Given the description of an element on the screen output the (x, y) to click on. 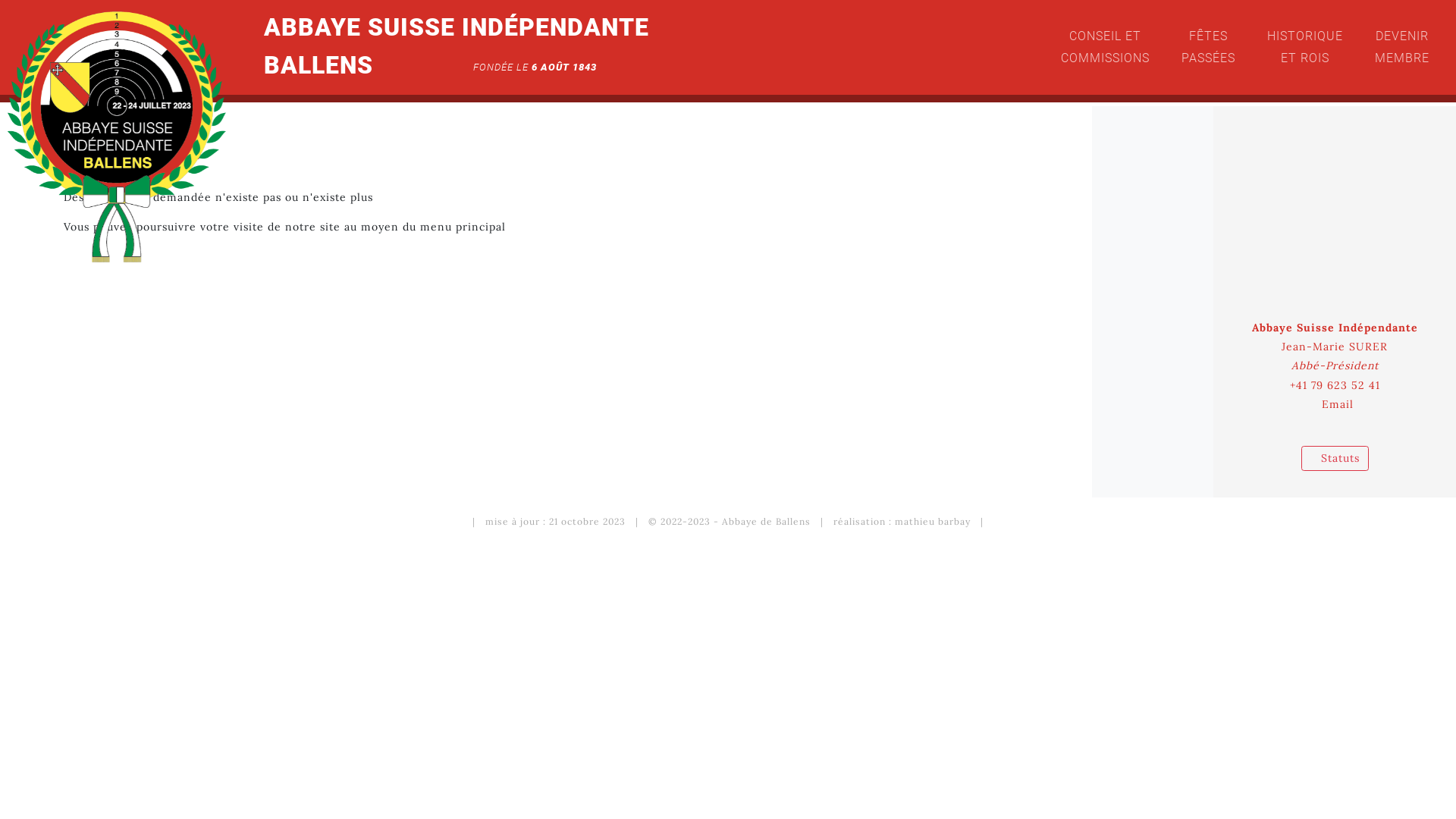
CONSEIL ET
COMMISSIONS Element type: text (1104, 47)
Statuts Element type: text (1334, 458)
mathieu barbay Element type: text (932, 521)
HISTORIQUE
ET ROIS Element type: text (1304, 47)
DEVENIR
MEMBRE Element type: text (1401, 47)
Logo de l'Abbaye de Ballens 2023 Element type: hover (116, 136)
+41 79 623 52 41 Element type: text (1334, 385)
Email Element type: text (1337, 404)
